Given the description of an element on the screen output the (x, y) to click on. 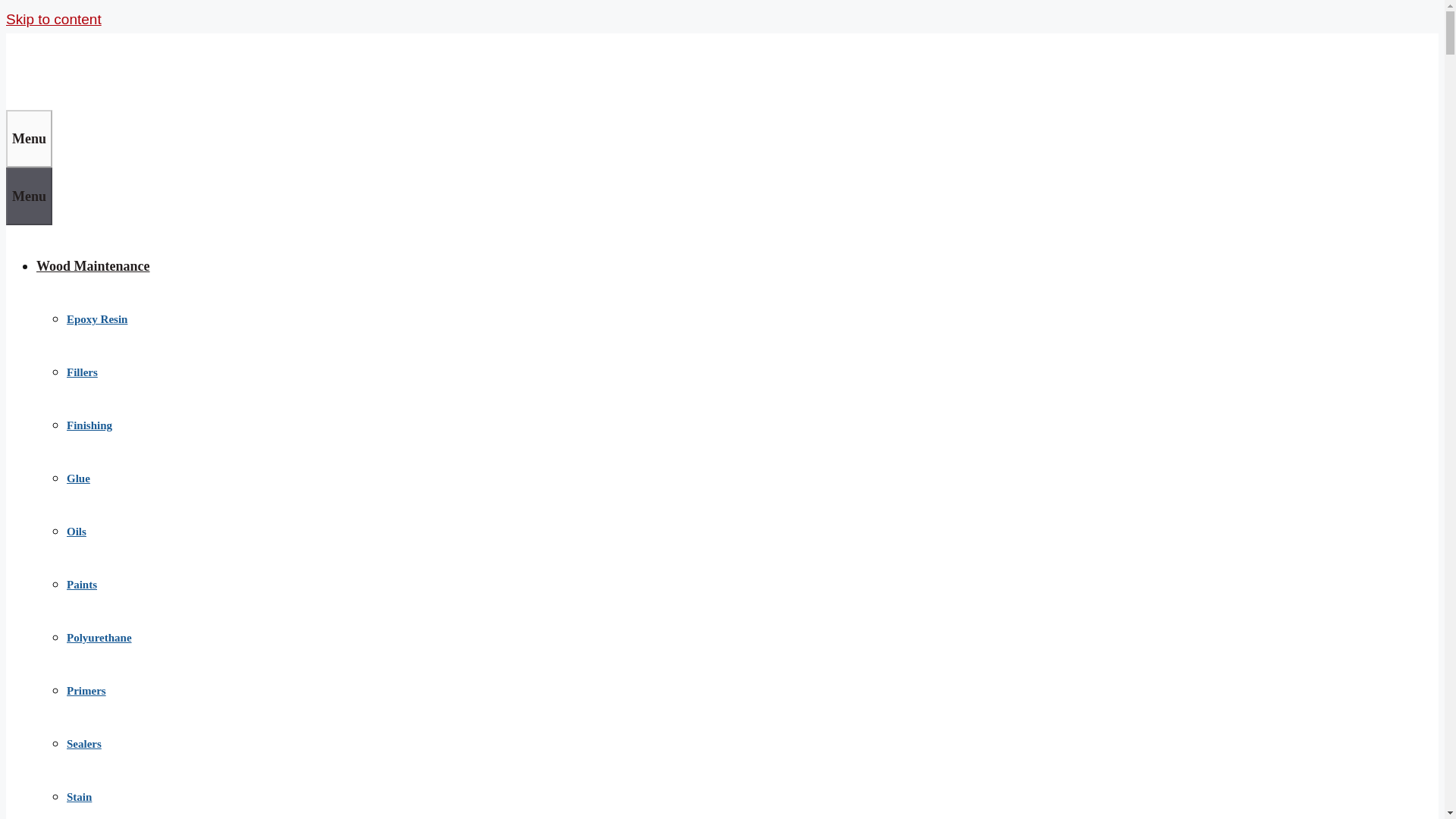
Skip to content (53, 19)
Oils (75, 531)
Primers (86, 690)
Fillers (81, 372)
Stain (78, 797)
Glue (78, 478)
Epoxy Resin (97, 318)
Sealers (83, 743)
Skip to content (53, 19)
Wood Maintenance (92, 265)
Paints (81, 584)
Polyurethane (99, 637)
Finishing (89, 425)
